Given the description of an element on the screen output the (x, y) to click on. 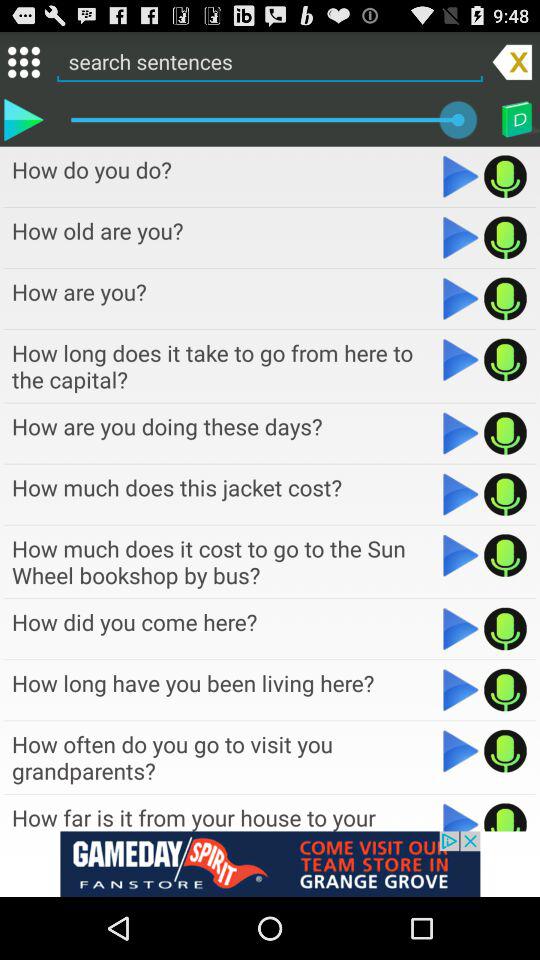
play media (460, 555)
